Given the description of an element on the screen output the (x, y) to click on. 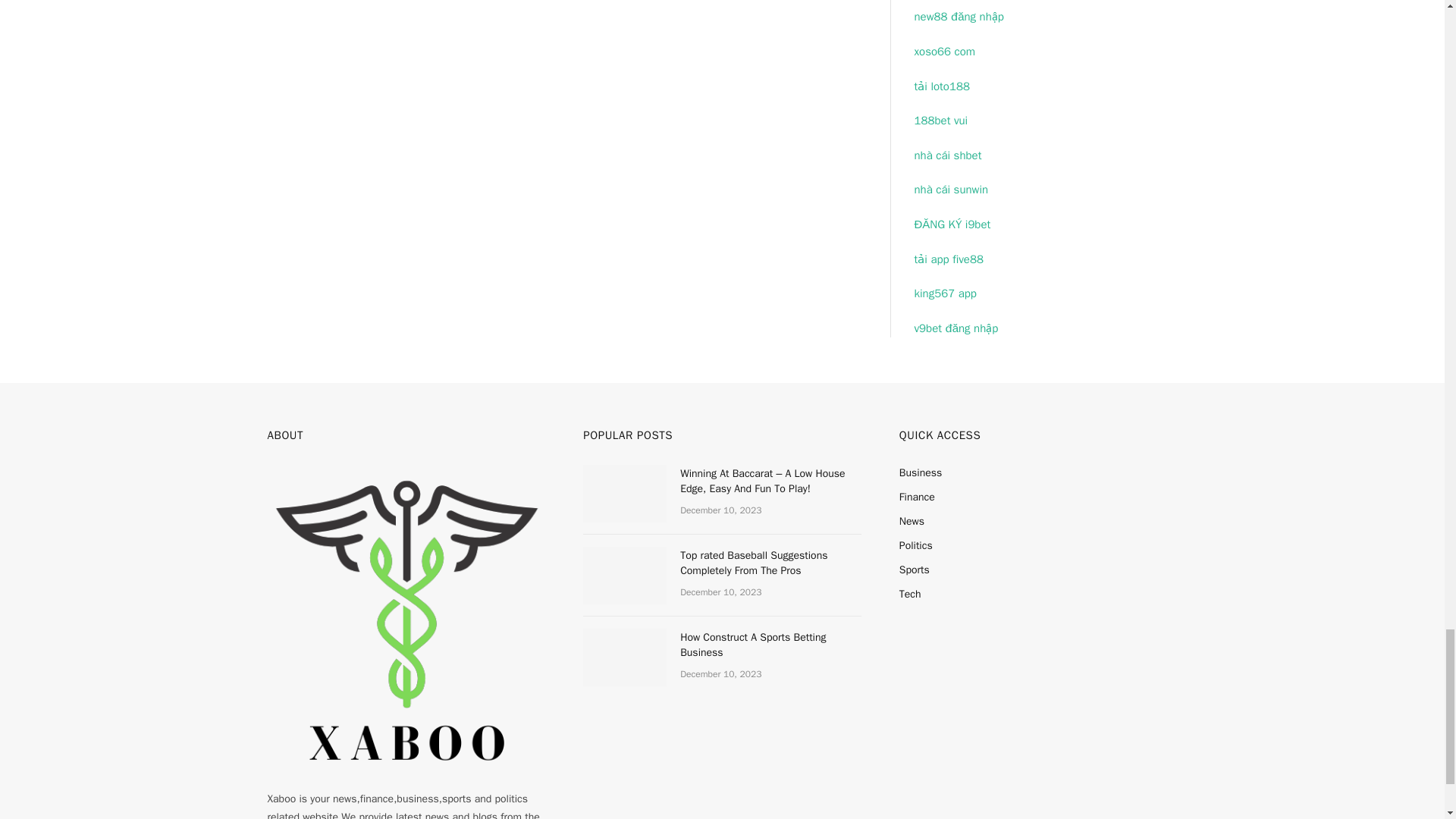
How Construct A Sports Betting Business (624, 657)
Top rated Baseball Suggestions Completely From The Pros (624, 575)
